Given the description of an element on the screen output the (x, y) to click on. 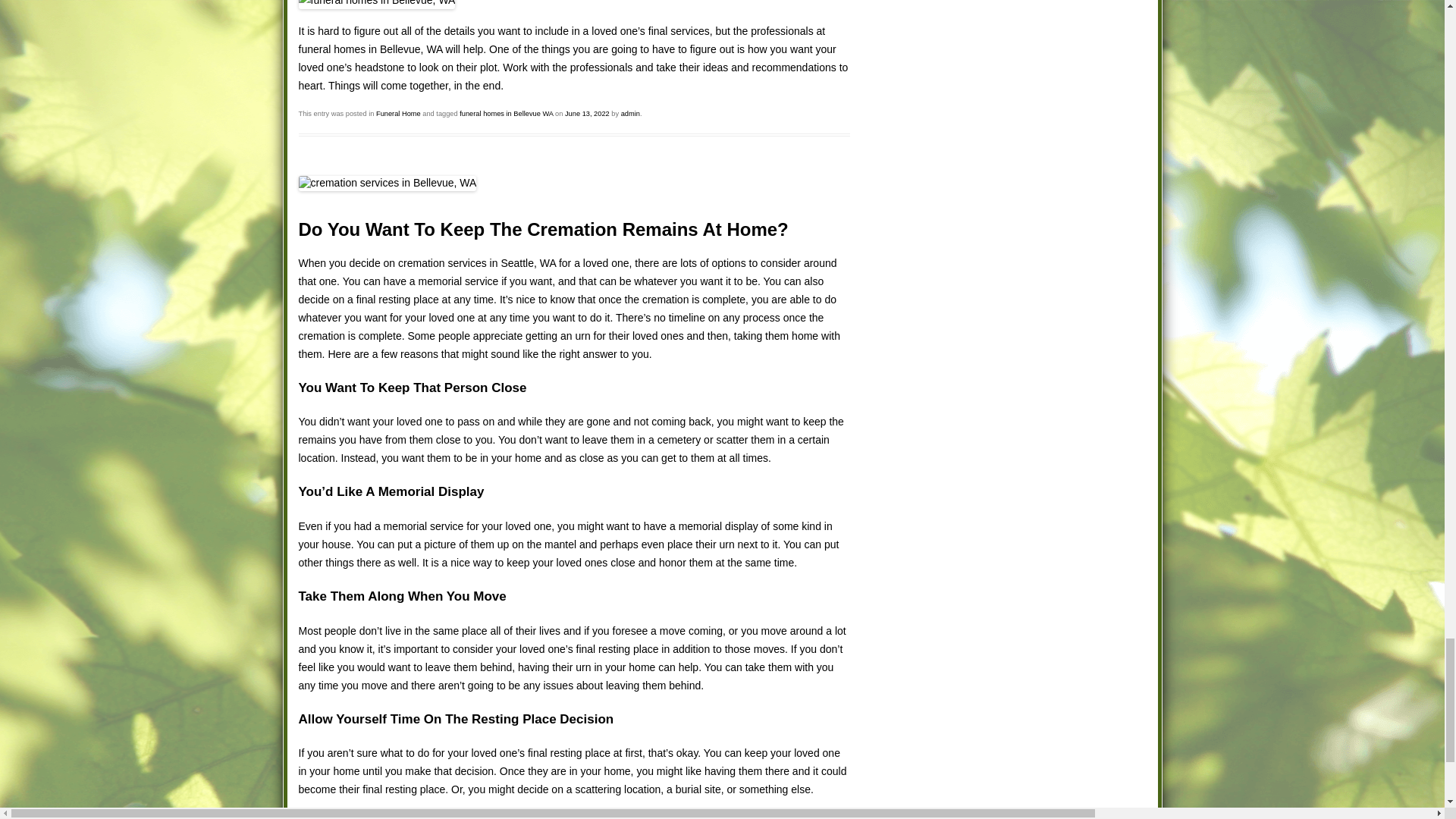
View all posts by admin (630, 113)
5:00 am (587, 113)
